Given the description of an element on the screen output the (x, y) to click on. 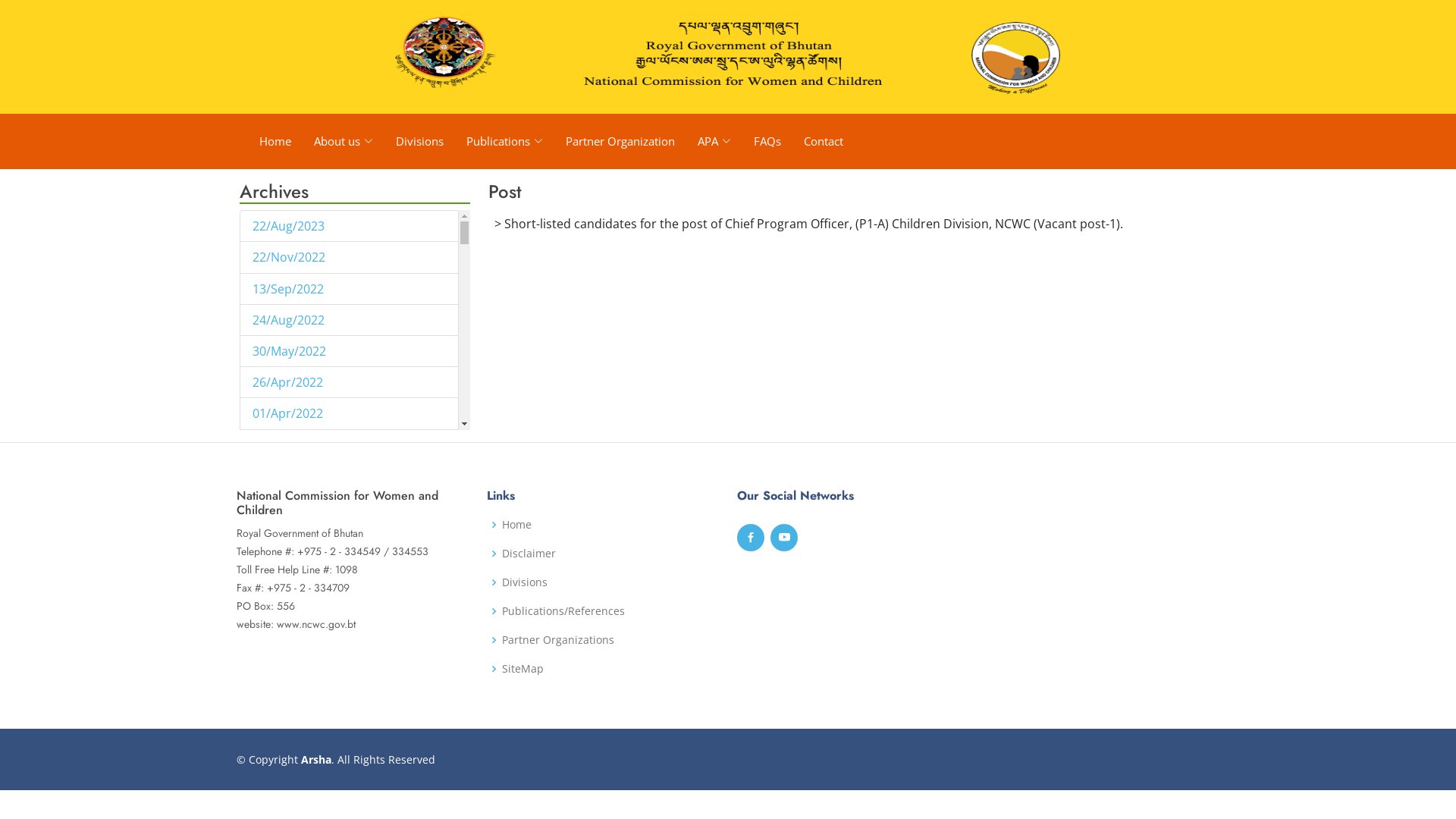
16/Dec/2021 Element type: text (289, 725)
13/Sep/2022 Element type: text (289, 288)
24/Aug/2022 Element type: text (289, 319)
SiteMap Element type: text (522, 668)
22/Nov/2022 Element type: text (290, 256)
Publications Element type: text (492, 141)
20/Feb/2022 Element type: text (289, 538)
About us Element type: text (332, 141)
07/Dec/2021 Element type: text (289, 756)
26/Nov/2021 Element type: text (290, 788)
01/Apr/2022 Element type: text (289, 412)
Partner Organizations Element type: text (558, 639)
05/Jan/2022 Element type: text (287, 694)
Divisions Element type: text (408, 141)
Divisions Element type: text (524, 582)
FAQs Element type: text (756, 141)
APA Element type: text (702, 141)
22/Aug/2023 Element type: text (289, 225)
Publications/References Element type: text (563, 610)
13/Jan/2022 Element type: text (287, 663)
24/Feb/2022 Element type: text (289, 475)
26/Apr/2022 Element type: text (289, 381)
Partner Organization Element type: text (608, 141)
Contact Element type: text (812, 141)
16/Jan/2022 Element type: text (287, 601)
05/Feb/2022 Element type: text (289, 569)
14/Jan/2022 Element type: text (287, 632)
Disclaimer Element type: text (528, 553)
07/Mar/2022 Element type: text (290, 444)
Home Element type: text (263, 141)
Home Element type: text (516, 524)
21/Feb/2022 Element type: text (289, 506)
30/May/2022 Element type: text (290, 350)
